Given the description of an element on the screen output the (x, y) to click on. 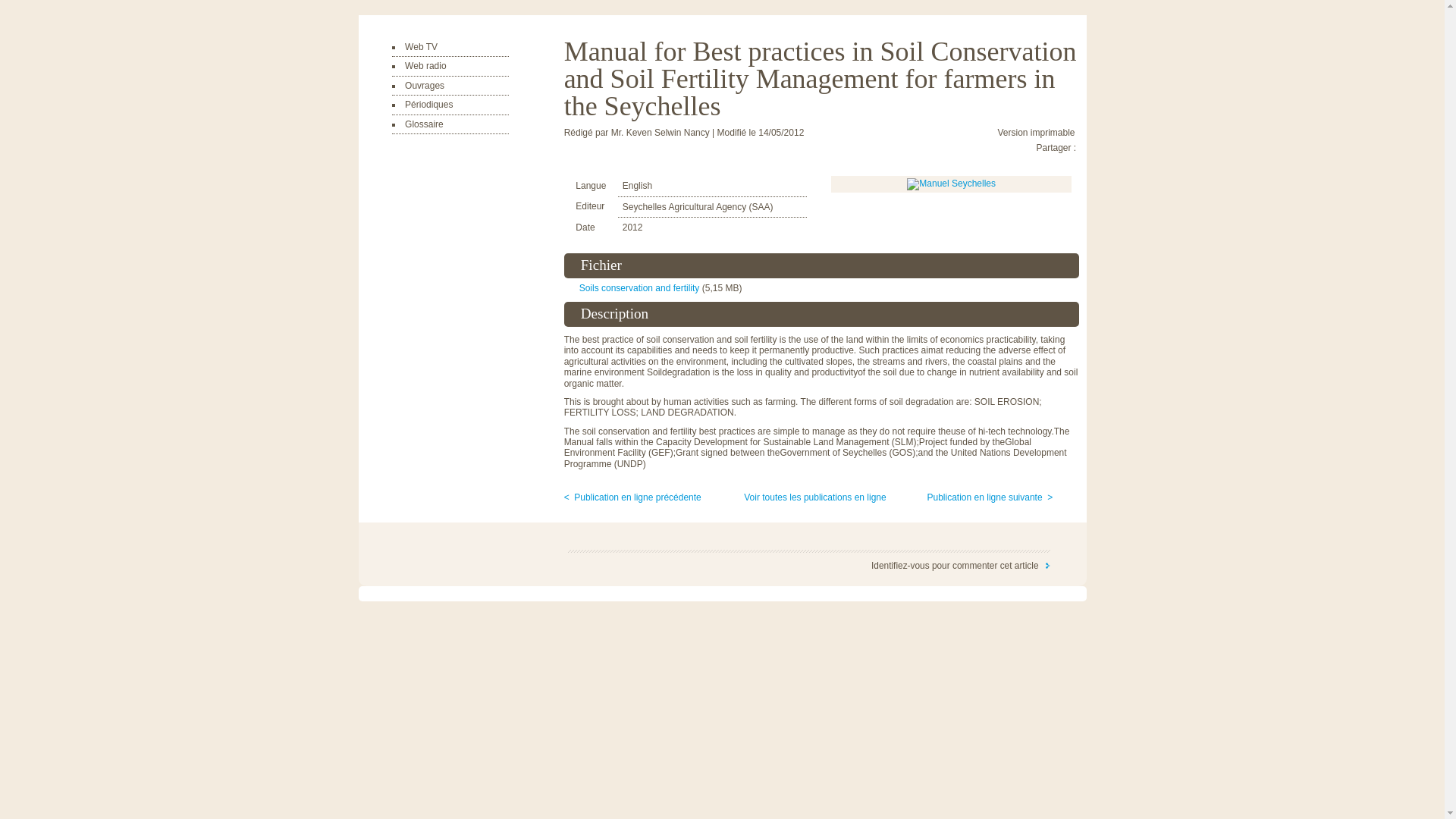
Web radio (424, 65)
Soils conservation and fertility (632, 287)
Ouvrages (424, 85)
Glossaire (424, 123)
Web TV (421, 46)
